Given the description of an element on the screen output the (x, y) to click on. 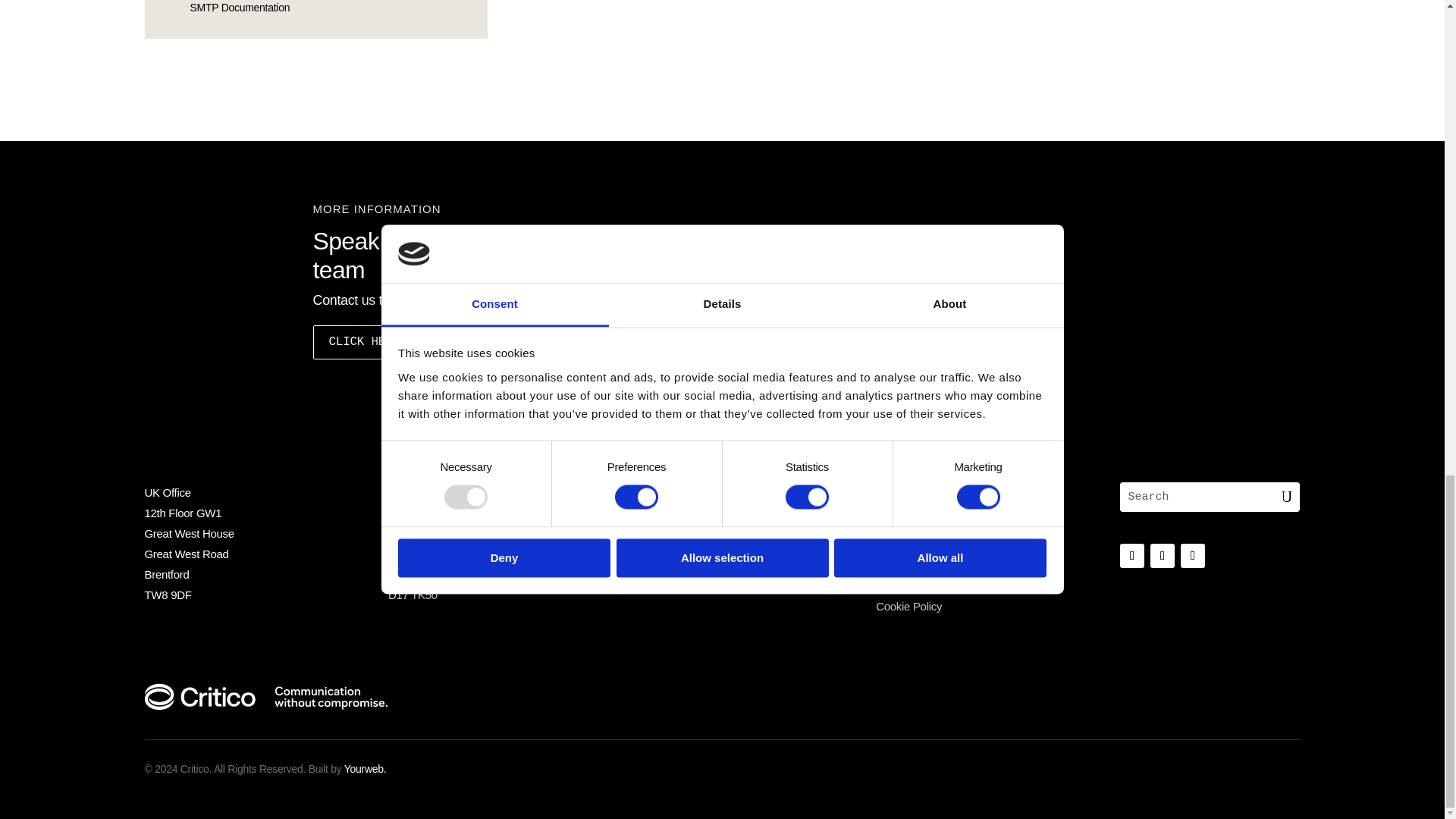
Follow on LinkedIn (1131, 555)
logo-footer (265, 696)
Follow on X (1192, 555)
Follow on Youtube (1162, 555)
